Given the description of an element on the screen output the (x, y) to click on. 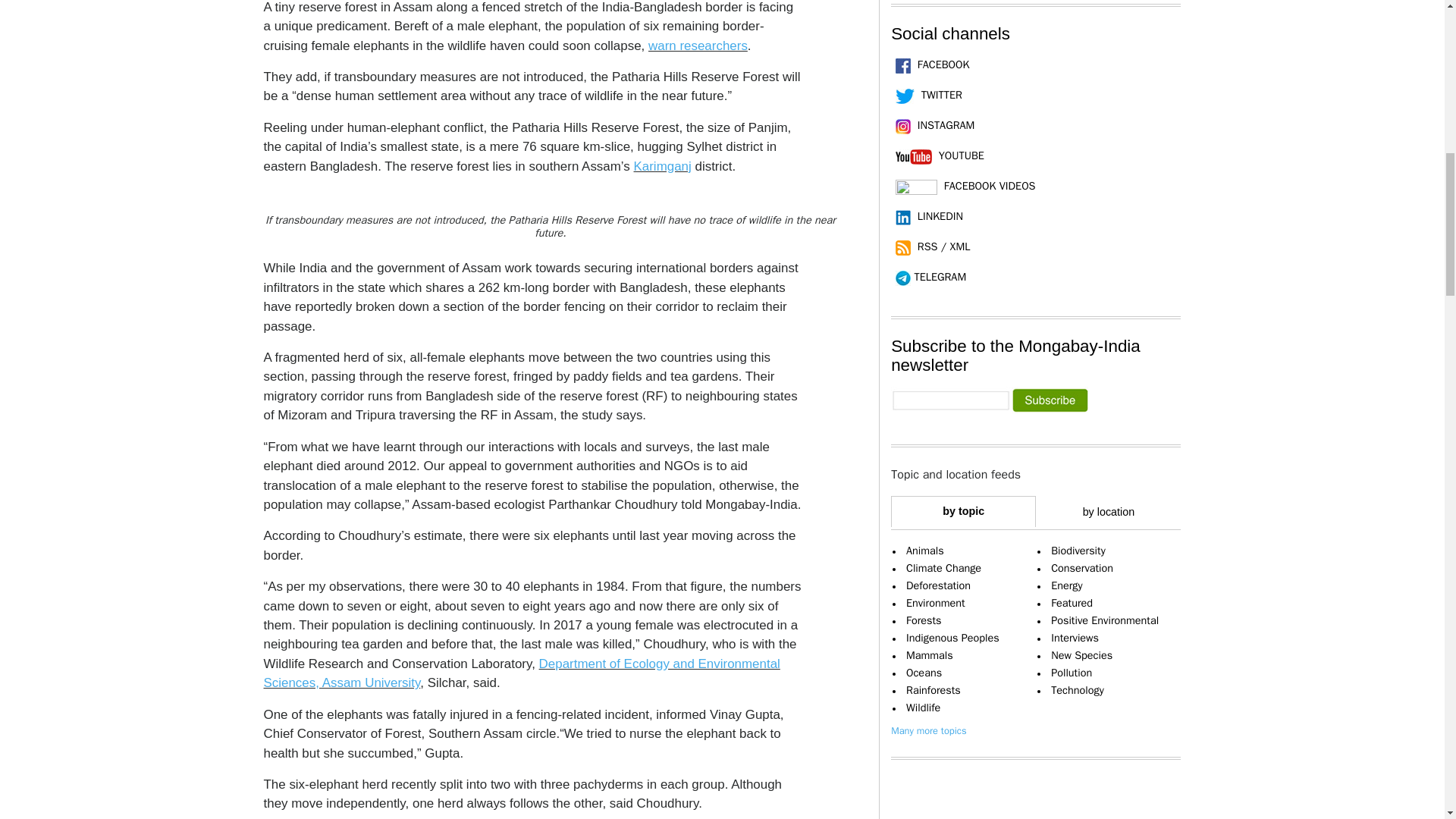
  FACEBOOK (930, 64)
warn researchers (697, 45)
Karimganj (662, 165)
